Given the description of an element on the screen output the (x, y) to click on. 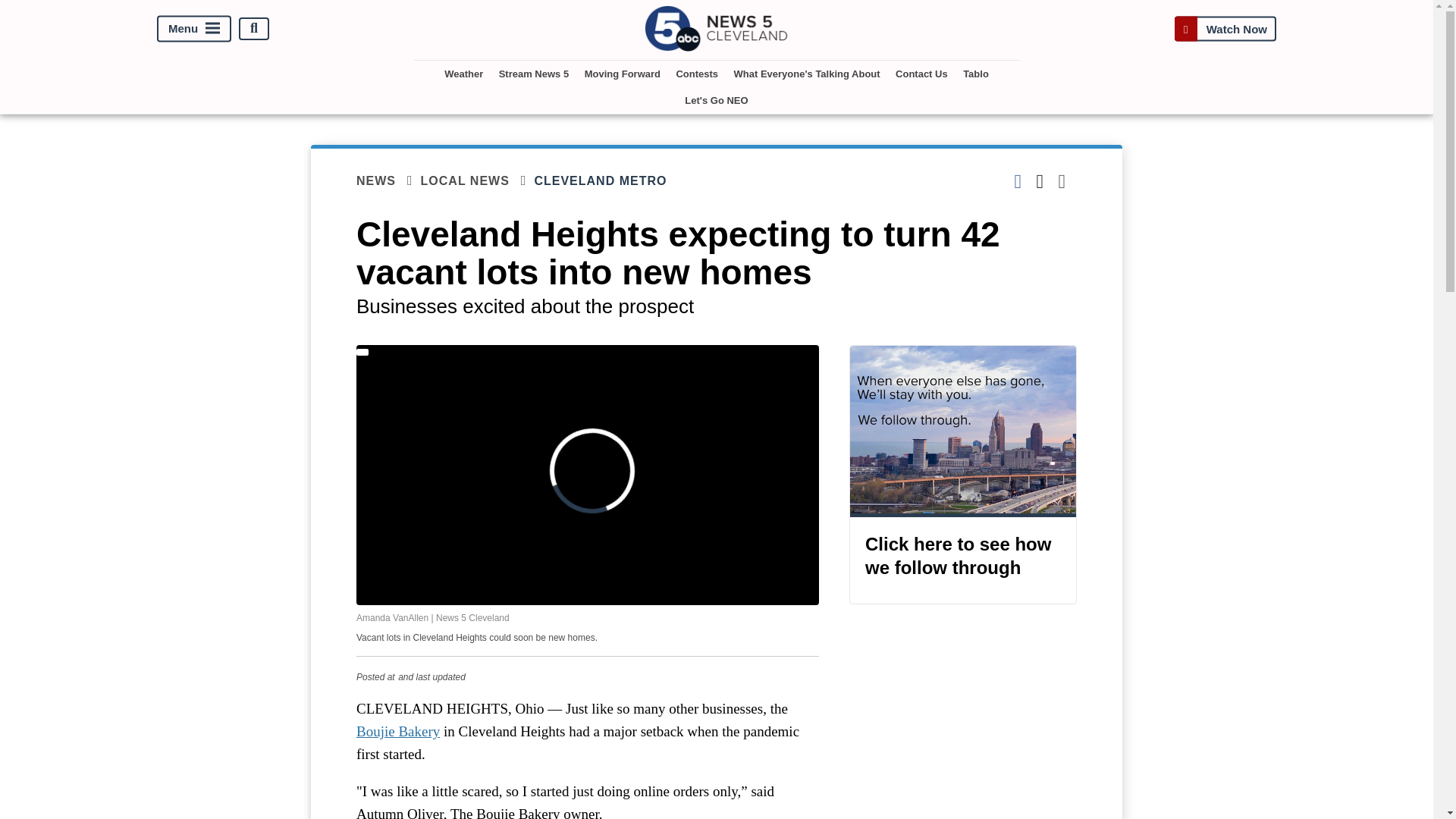
Menu (194, 28)
Watch Now (1224, 28)
